Given the description of an element on the screen output the (x, y) to click on. 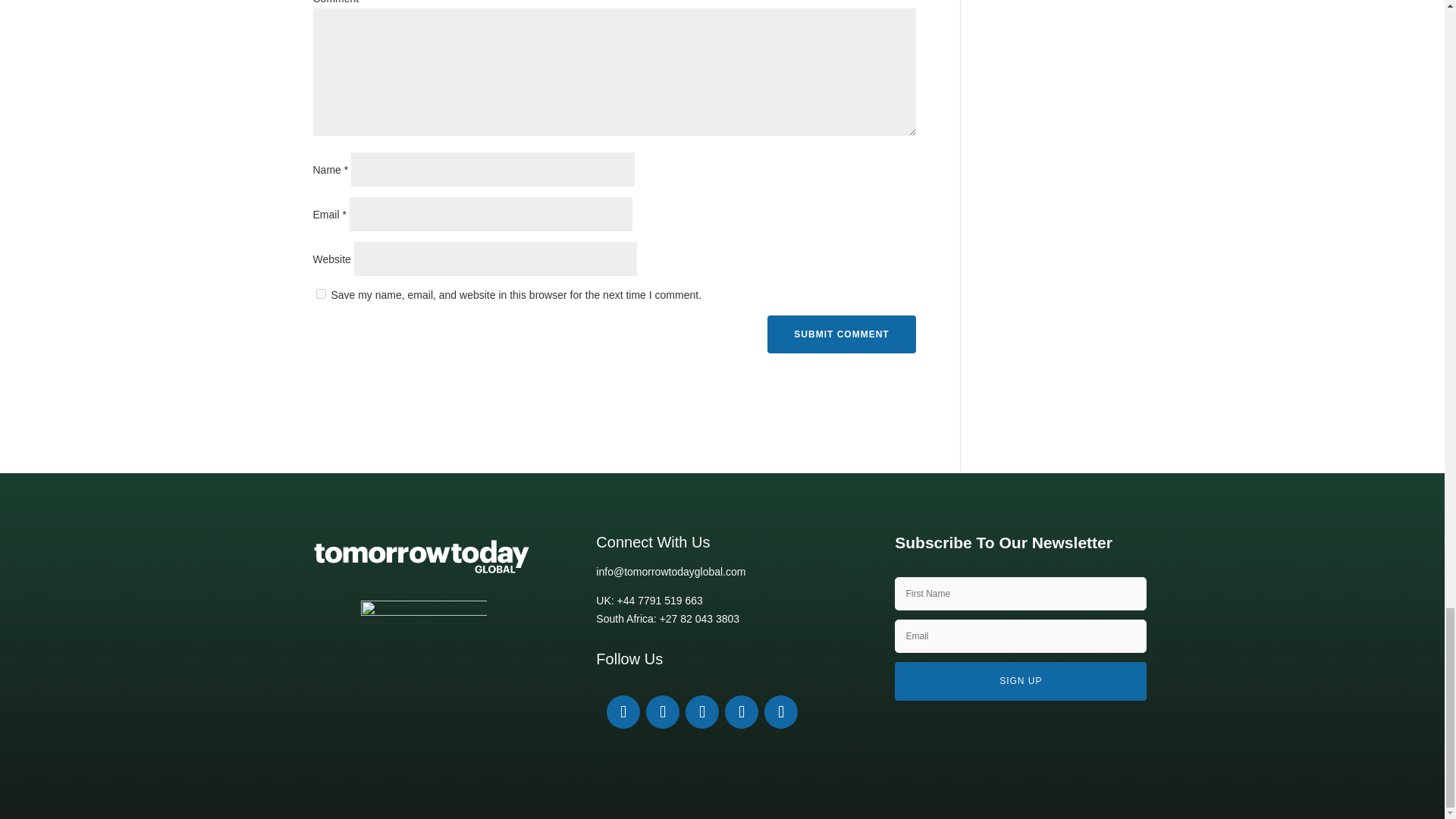
Follow on Youtube (702, 711)
Submit Comment (841, 333)
Follow on LinkedIn (623, 711)
Logotype-footer (423, 557)
SIGN UP (1021, 680)
Follow on Facebook (662, 711)
Follow on Instagram (741, 711)
Follow on Twitter (780, 711)
yes (319, 293)
Submit Comment (841, 333)
